Given the description of an element on the screen output the (x, y) to click on. 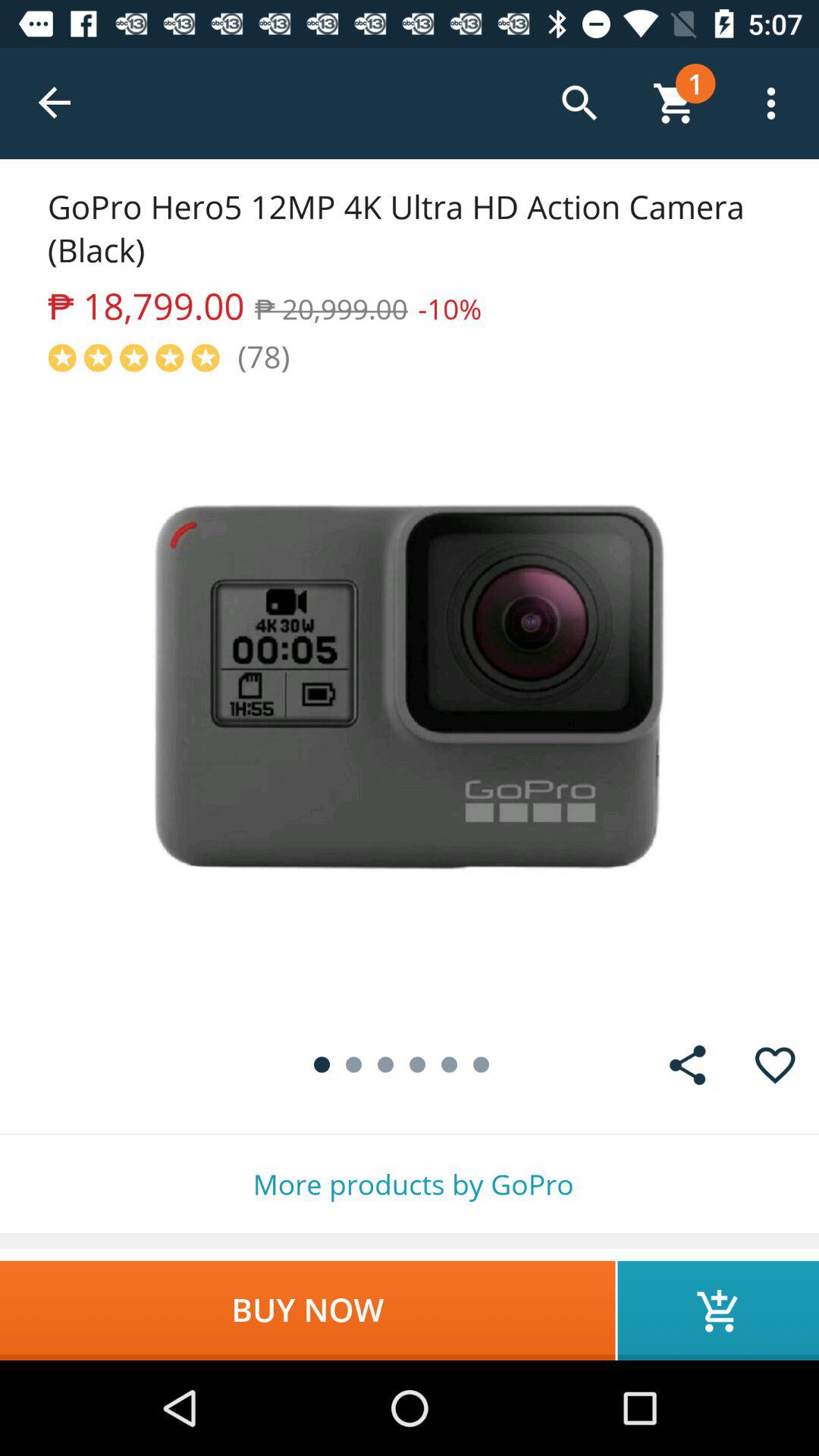
launch the item next to the buy now icon (718, 1310)
